Given the description of an element on the screen output the (x, y) to click on. 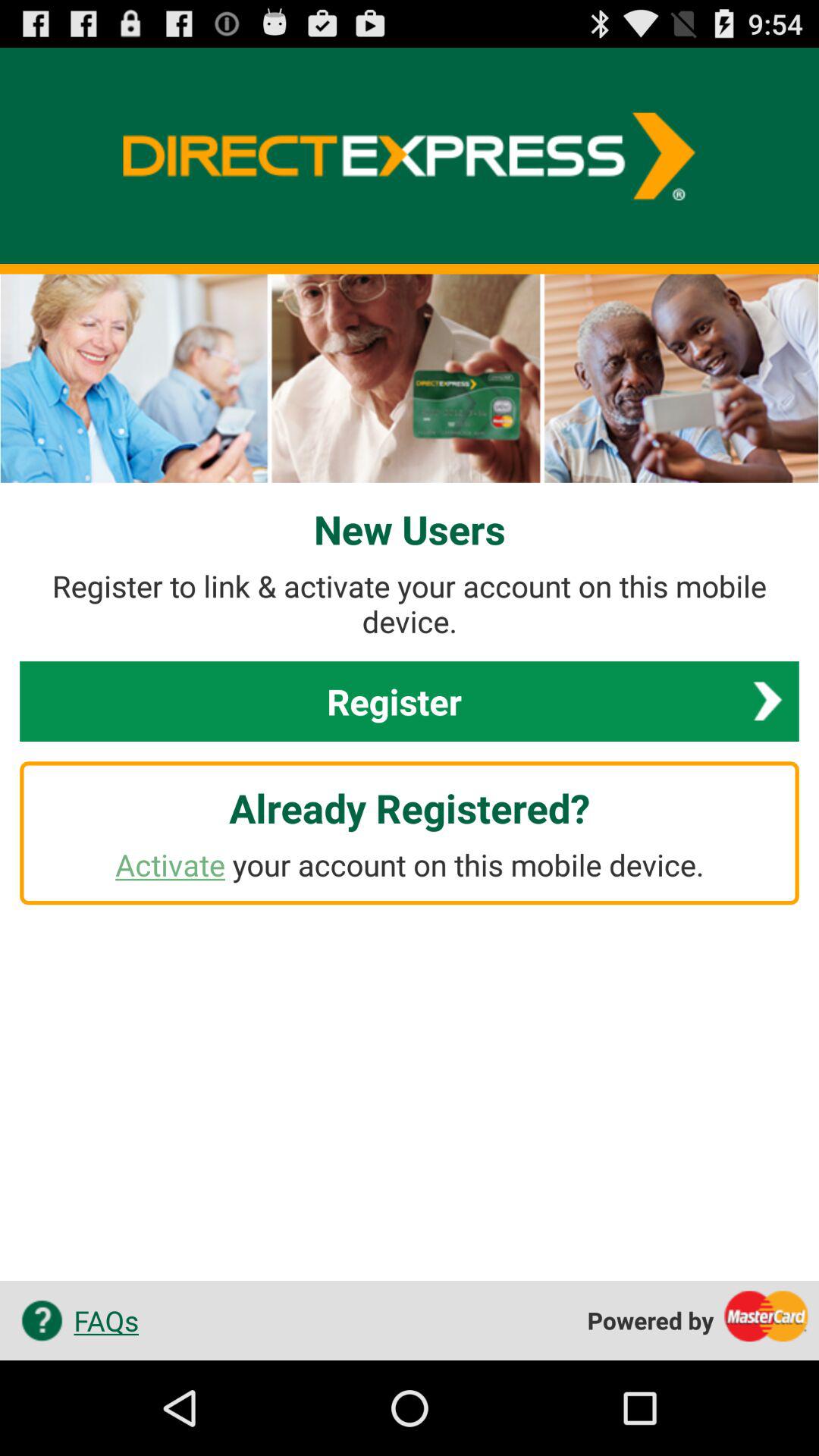
open the icon below the activate your account app (74, 1320)
